Given the description of an element on the screen output the (x, y) to click on. 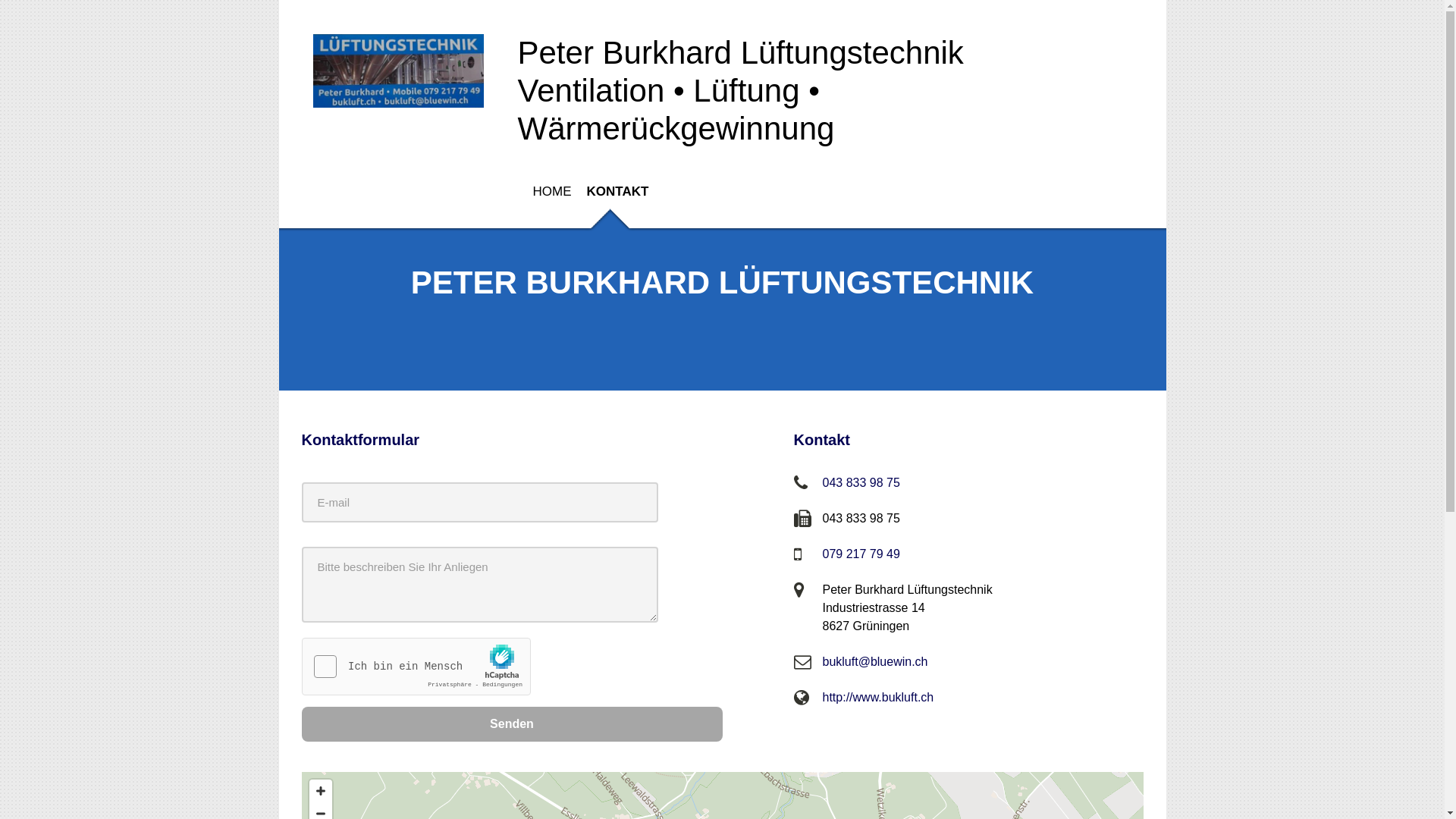
http://www.bukluft.ch Element type: text (877, 696)
Senden Element type: text (511, 723)
043 833 98 75 Element type: text (860, 482)
HOME Element type: text (544, 197)
079 217 79 49 Element type: text (860, 553)
bukluft@bluewin.ch Element type: text (874, 661)
KONTAKT Element type: text (616, 197)
